Given the description of an element on the screen output the (x, y) to click on. 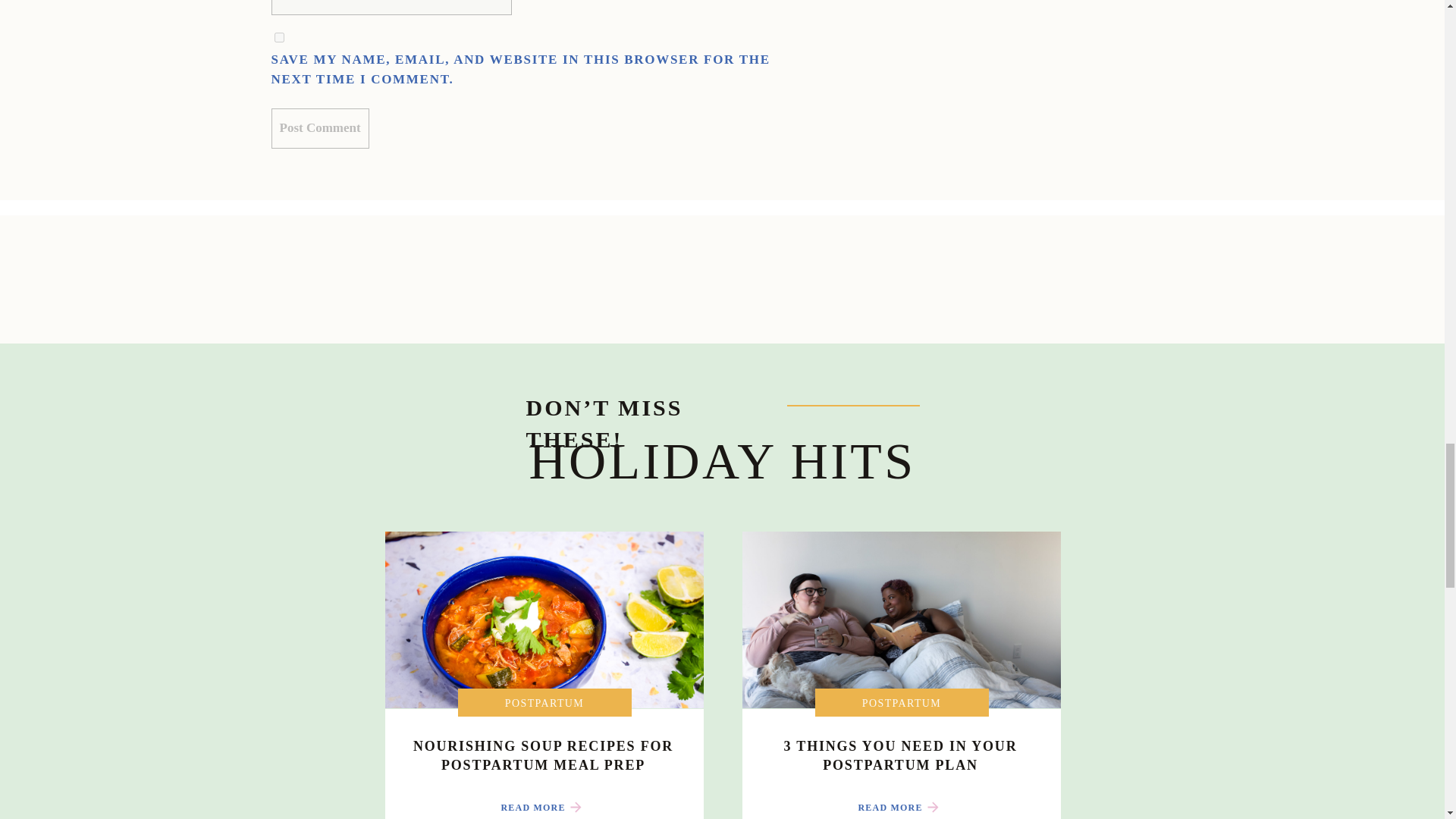
Post Comment (319, 128)
yes (279, 37)
Nourishing Soup Recipes for Postpartum Meal Prep (543, 807)
3 things you Need in your Postpartum Plan (901, 807)
